Given the description of an element on the screen output the (x, y) to click on. 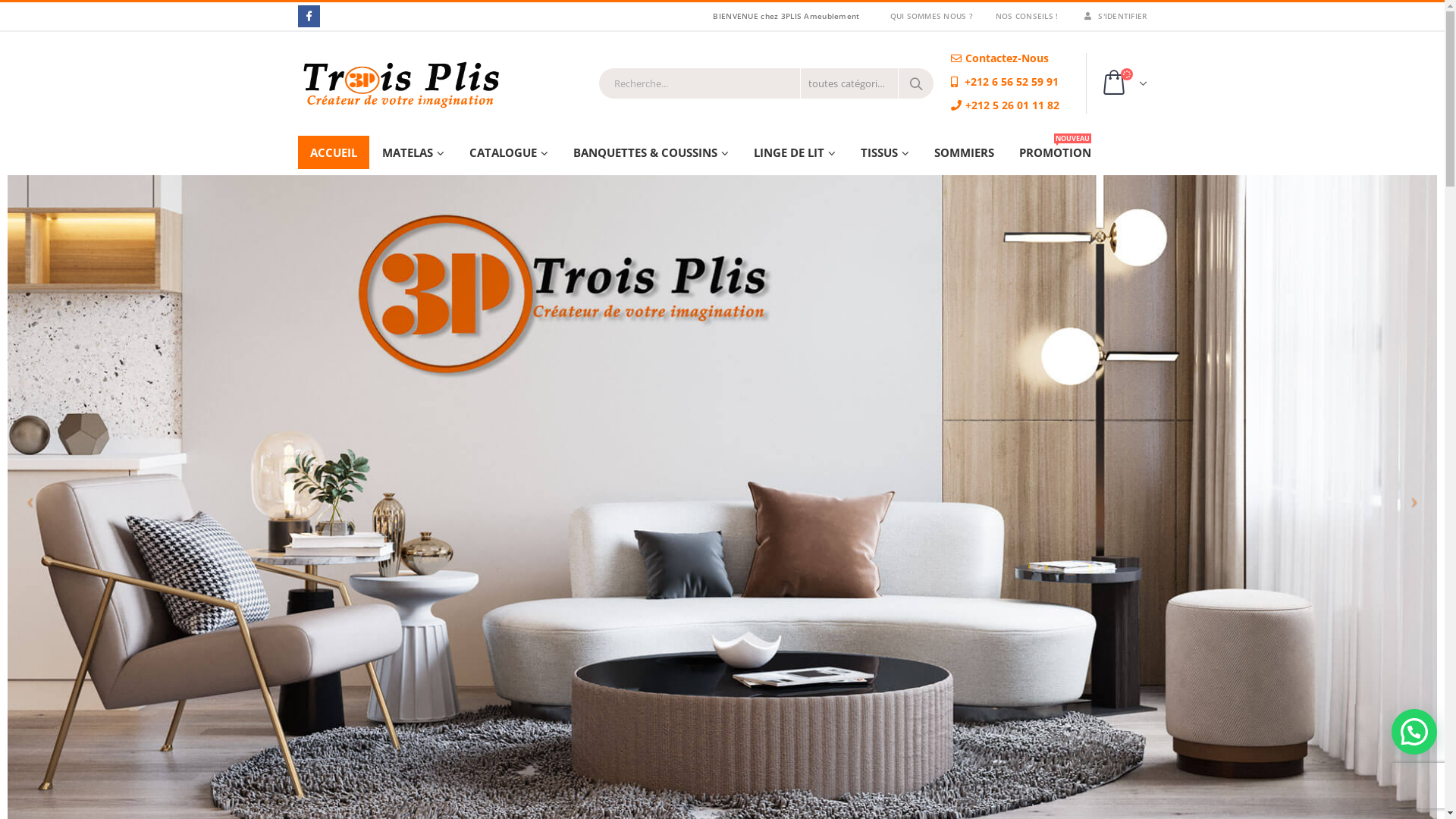
MATELAS Element type: text (413, 152)
BANQUETTES & COUSSINS Element type: text (650, 152)
QUI SOMMES NOUS ? Element type: text (930, 15)
NOS CONSEILS ! Element type: text (1027, 15)
LINGE DE LIT Element type: text (794, 152)
ACCUEIL Element type: text (332, 152)
+212 5 26 01 11 82 Element type: text (1002, 104)
Facebook Element type: hover (308, 16)
3PLIS Ameublement - 3 PLIS Element type: hover (441, 83)
+212 6 56 52 59 91 Element type: text (1001, 81)
S'IDENTIFIER Element type: text (1107, 15)
PROMOTION
NOUVEAU Element type: text (1055, 152)
SOMMIERS Element type: text (964, 152)
Contactez-Nous Element type: text (997, 57)
TISSUS Element type: text (883, 152)
Chercher Element type: hover (915, 83)
CATALOGUE Element type: text (507, 152)
